Given the description of an element on the screen output the (x, y) to click on. 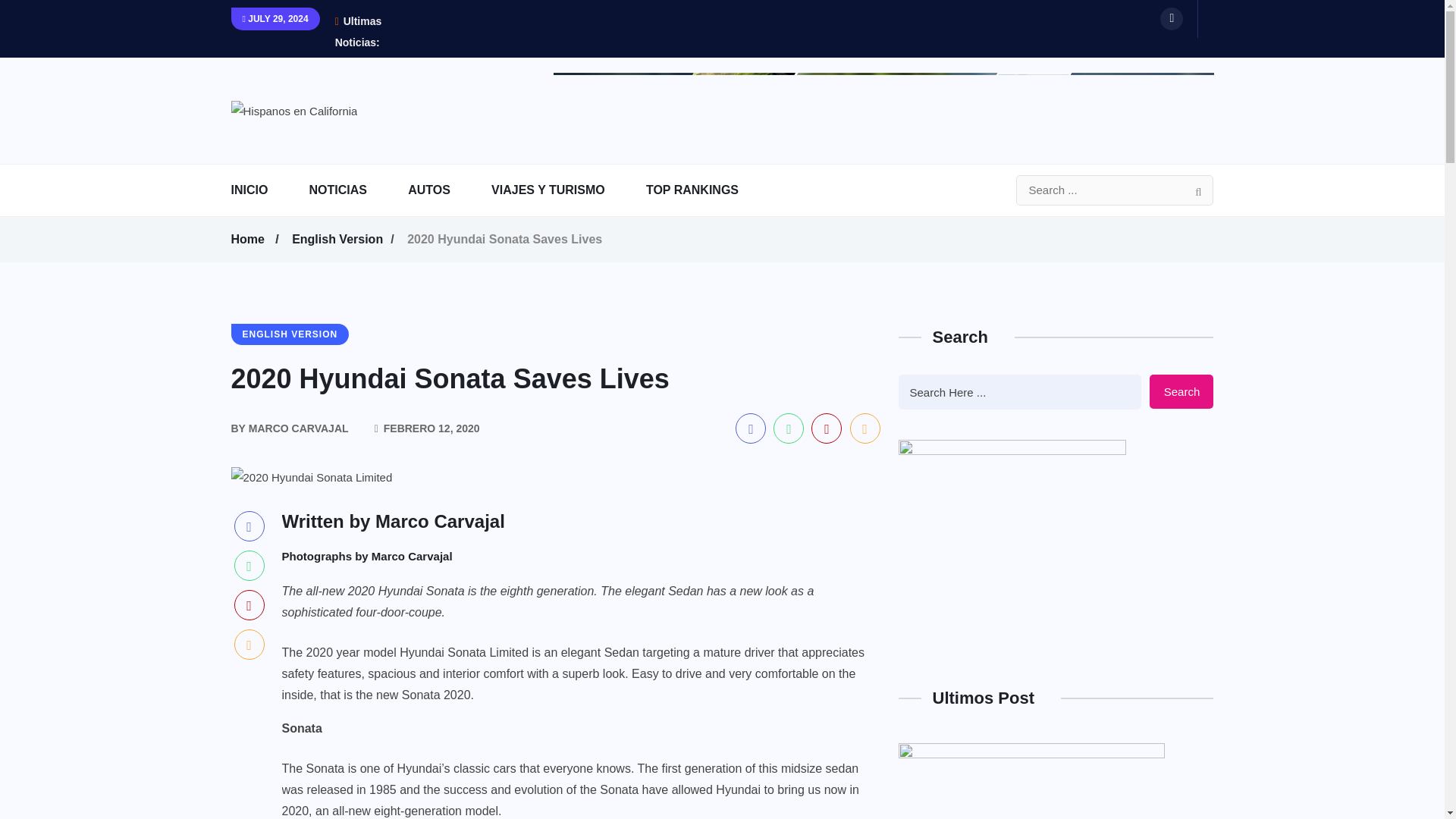
TOP RANKINGS (711, 190)
NOTICIAS (356, 190)
ENGLISH VERSION (289, 333)
VIAJES Y TURISMO (567, 190)
English Version (340, 239)
Home (249, 239)
AUTOS (447, 190)
INICIO (267, 190)
